Given the description of an element on the screen output the (x, y) to click on. 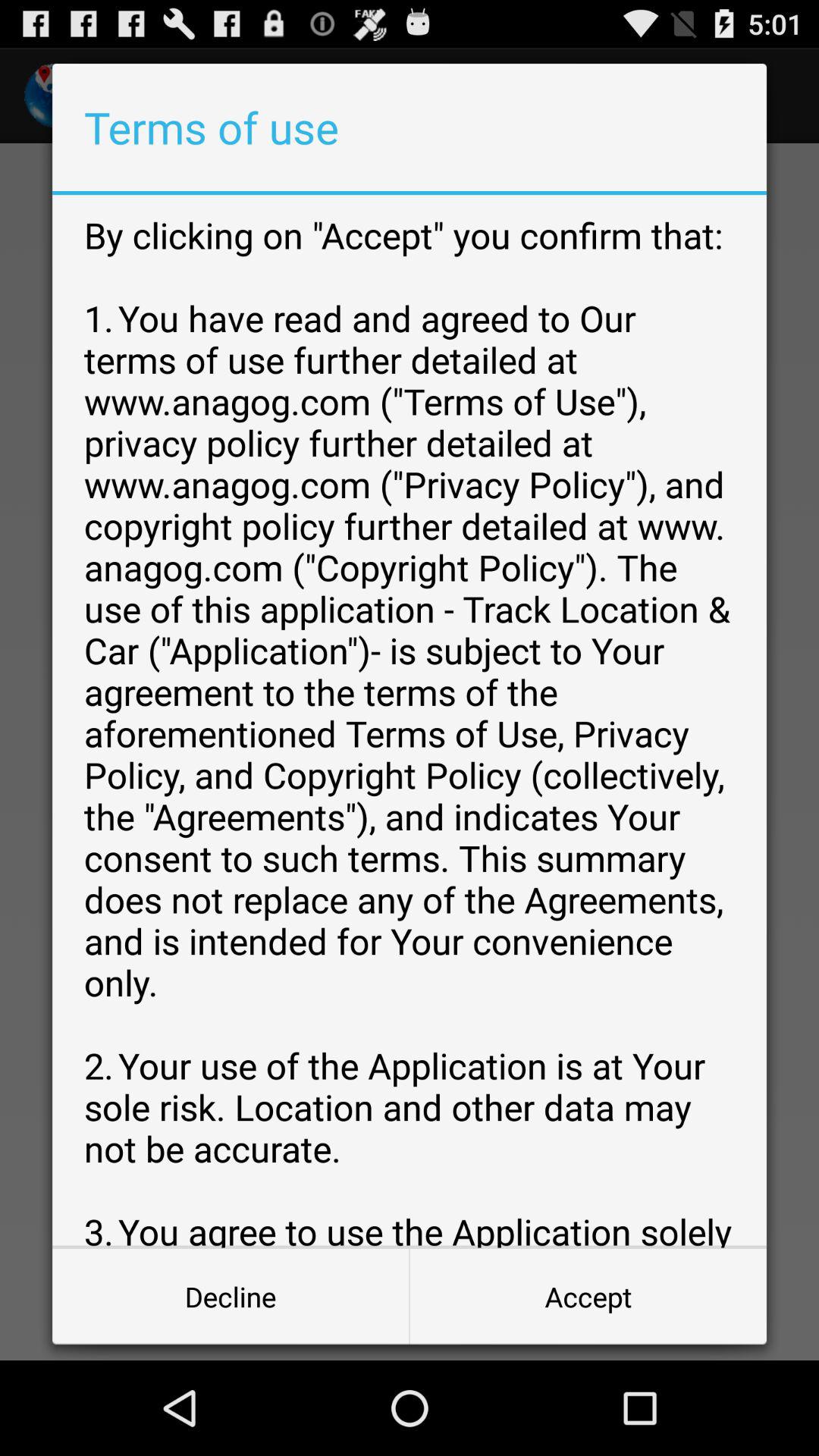
choose the icon next to the accept (230, 1296)
